Given the description of an element on the screen output the (x, y) to click on. 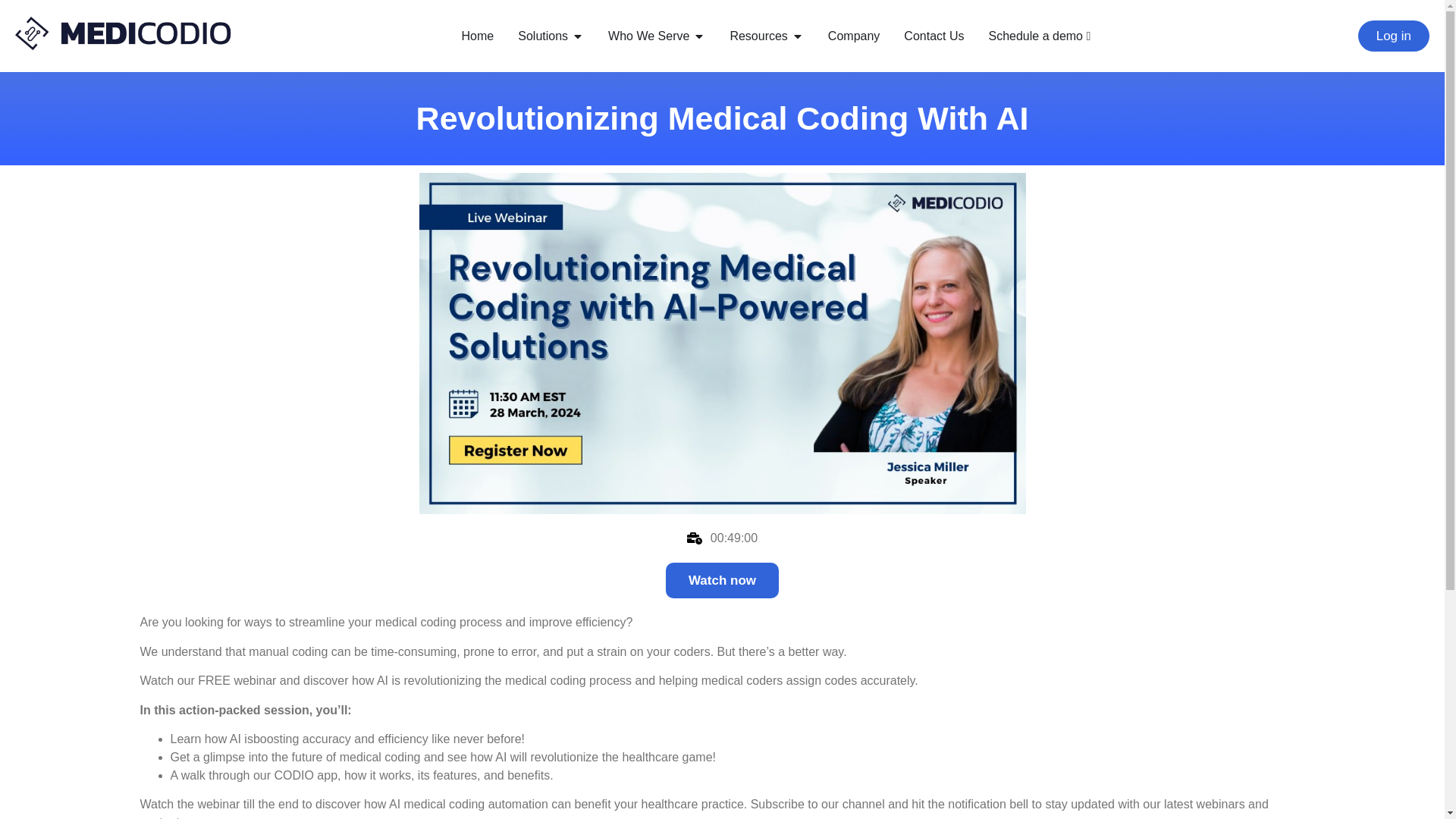
Log in (1393, 35)
Company (853, 36)
Contact Us (933, 36)
Watch now (721, 580)
Home (478, 36)
